Given the description of an element on the screen output the (x, y) to click on. 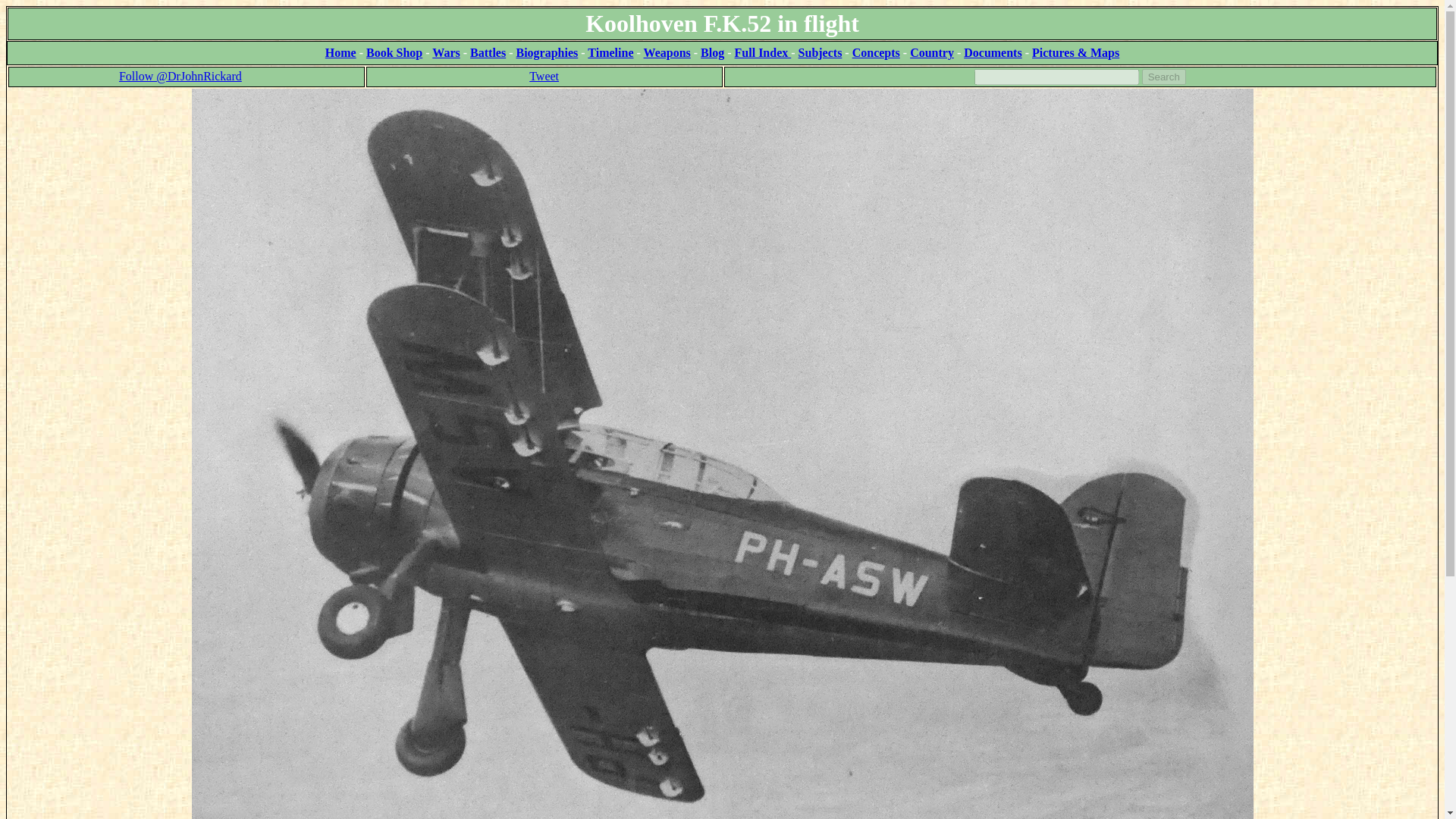
Biographies (546, 51)
Home (340, 51)
Index of articles on military concepts (875, 51)
Concepts (875, 51)
Index of biographies (546, 51)
Index of articles on Battles (487, 51)
Index of articles on Weapons and military units (666, 51)
Special Subject Indexes (820, 51)
Index of articles on Wars (446, 51)
Blog (711, 51)
